Given the description of an element on the screen output the (x, y) to click on. 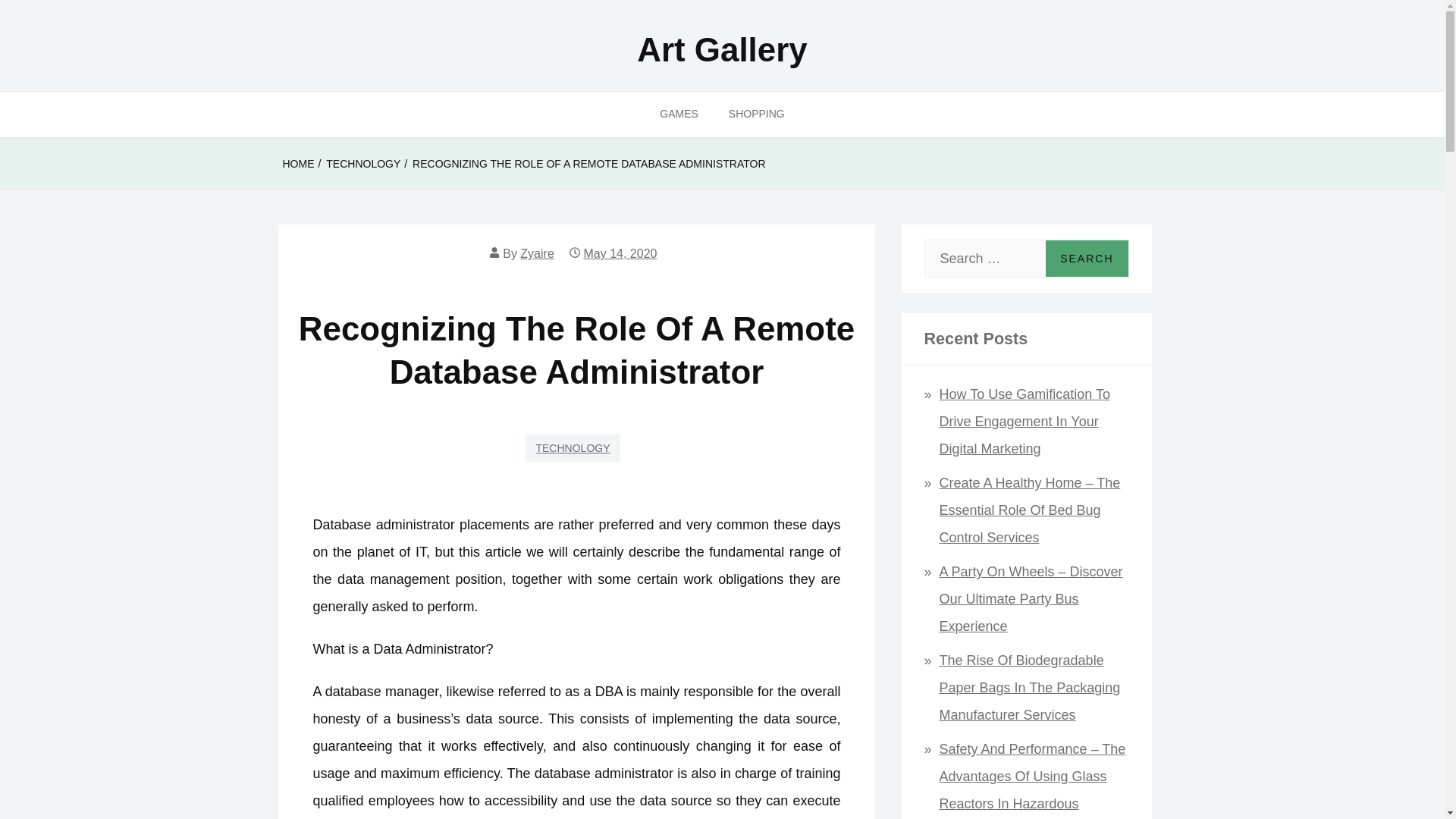
Search (1085, 258)
Art Gallery (722, 49)
RECOGNIZING THE ROLE OF A REMOTE DATABASE ADMINISTRATOR (588, 164)
TECHNOLOGY (363, 164)
SHOPPING (756, 114)
HOME (298, 164)
GAMES (679, 114)
Search (1085, 258)
